Given the description of an element on the screen output the (x, y) to click on. 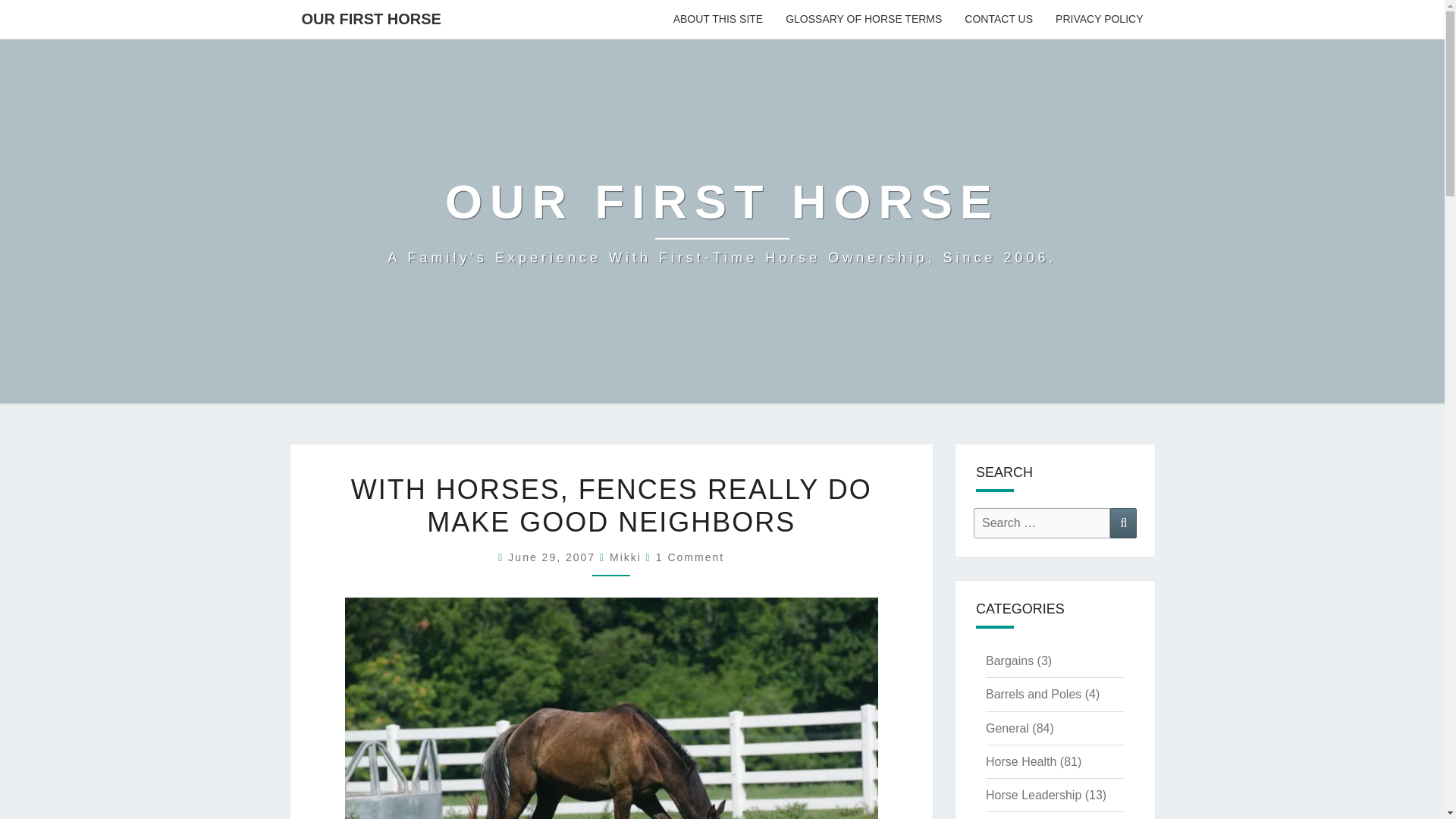
CONTACT US (998, 19)
Horse Leadership (1033, 794)
General (1007, 727)
View all posts by Mikki (626, 557)
Bargains (1009, 660)
Our First Horse (722, 221)
June 29, 2007 (553, 557)
1 Comment (689, 557)
10:29 pm (553, 557)
GLOSSARY OF HORSE TERMS (863, 19)
Barrels and Poles (1033, 694)
Mikki (626, 557)
ABOUT THIS SITE (718, 19)
PRIVACY POLICY (1098, 19)
